Given the description of an element on the screen output the (x, y) to click on. 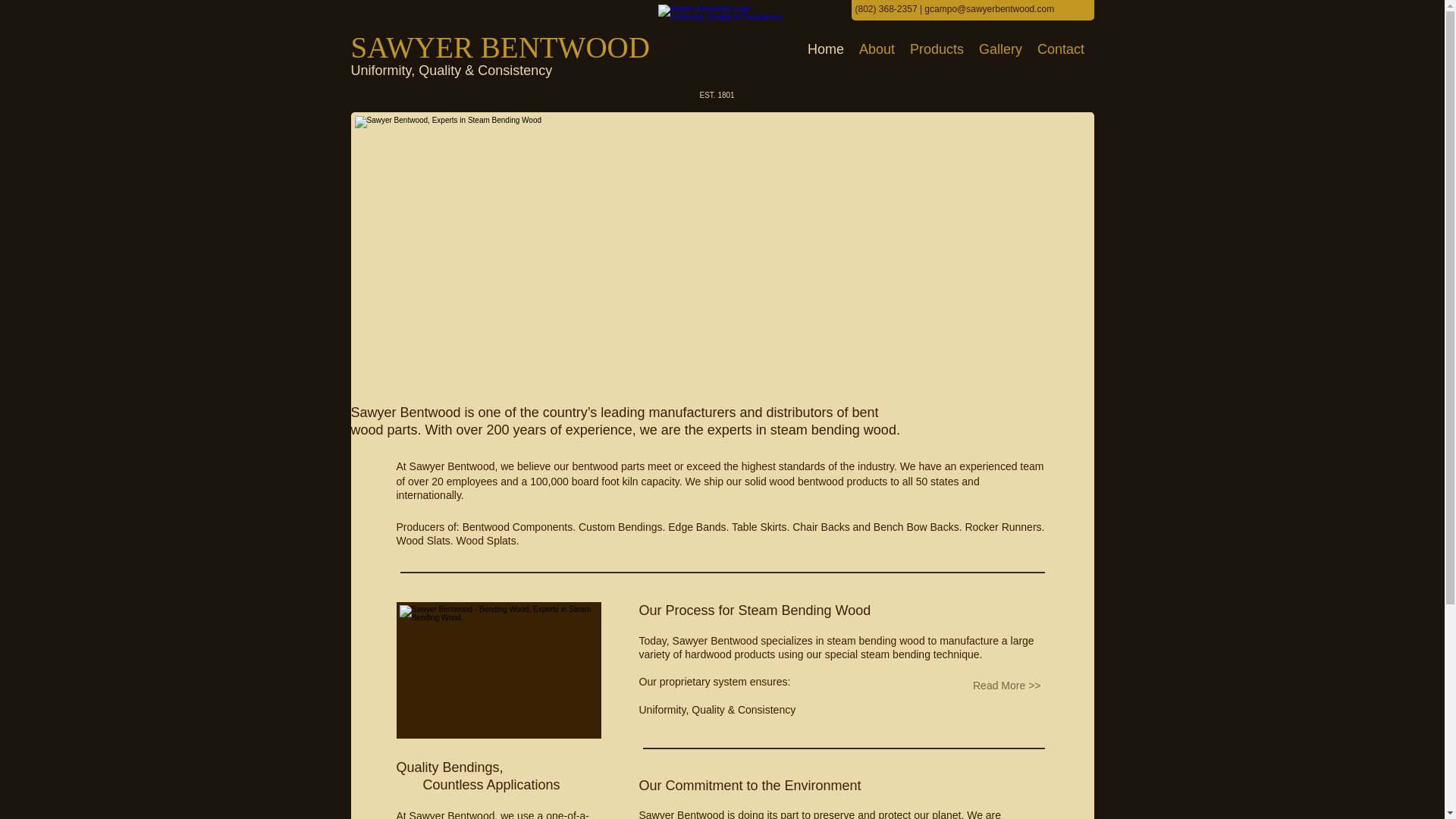
Gallery (1000, 49)
Home (825, 49)
Contact (1060, 49)
SAWYER BENTWOOD (499, 54)
Products (936, 49)
About (876, 49)
